Given the description of an element on the screen output the (x, y) to click on. 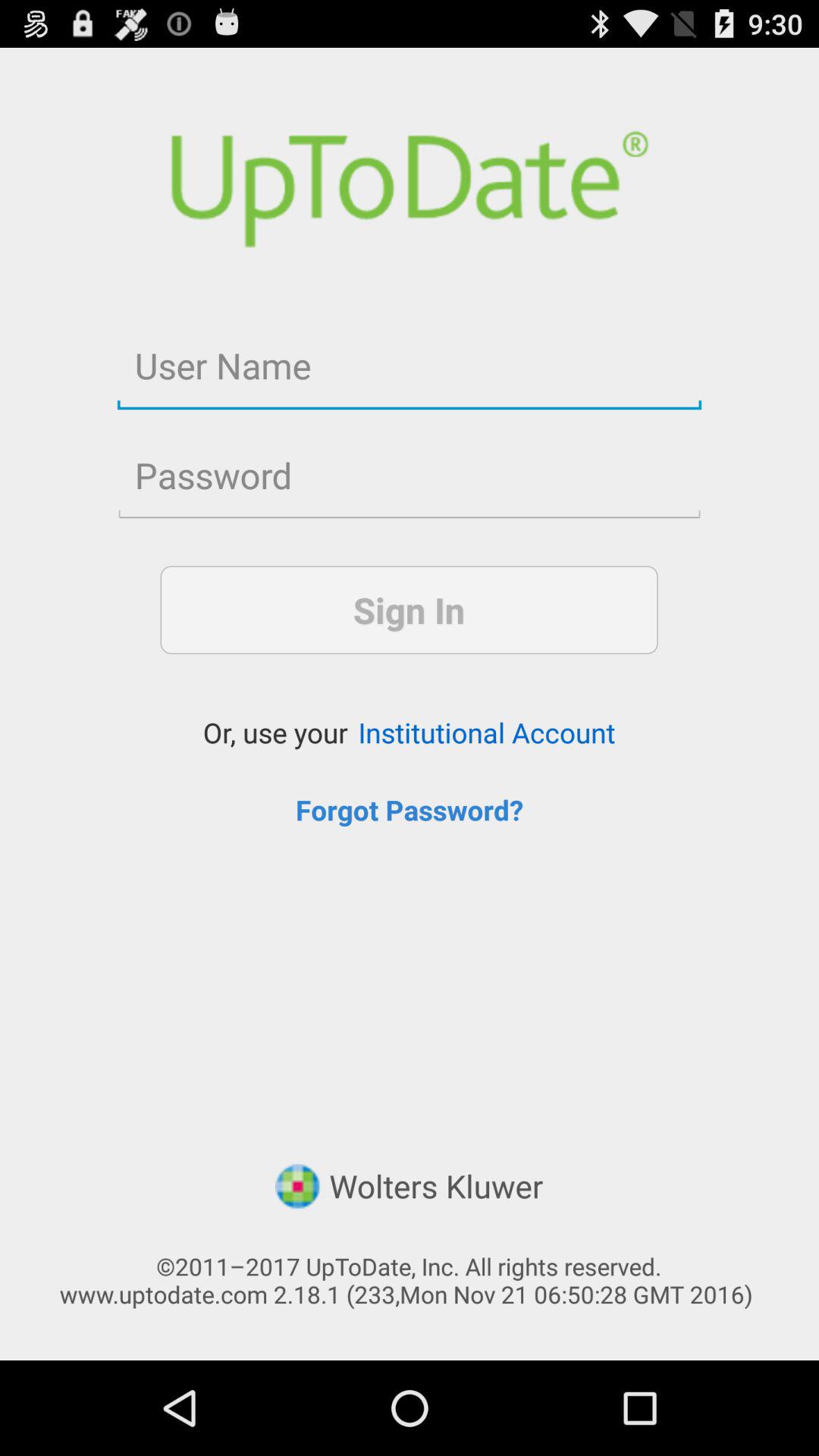
turn on the item below or, use your icon (409, 809)
